Given the description of an element on the screen output the (x, y) to click on. 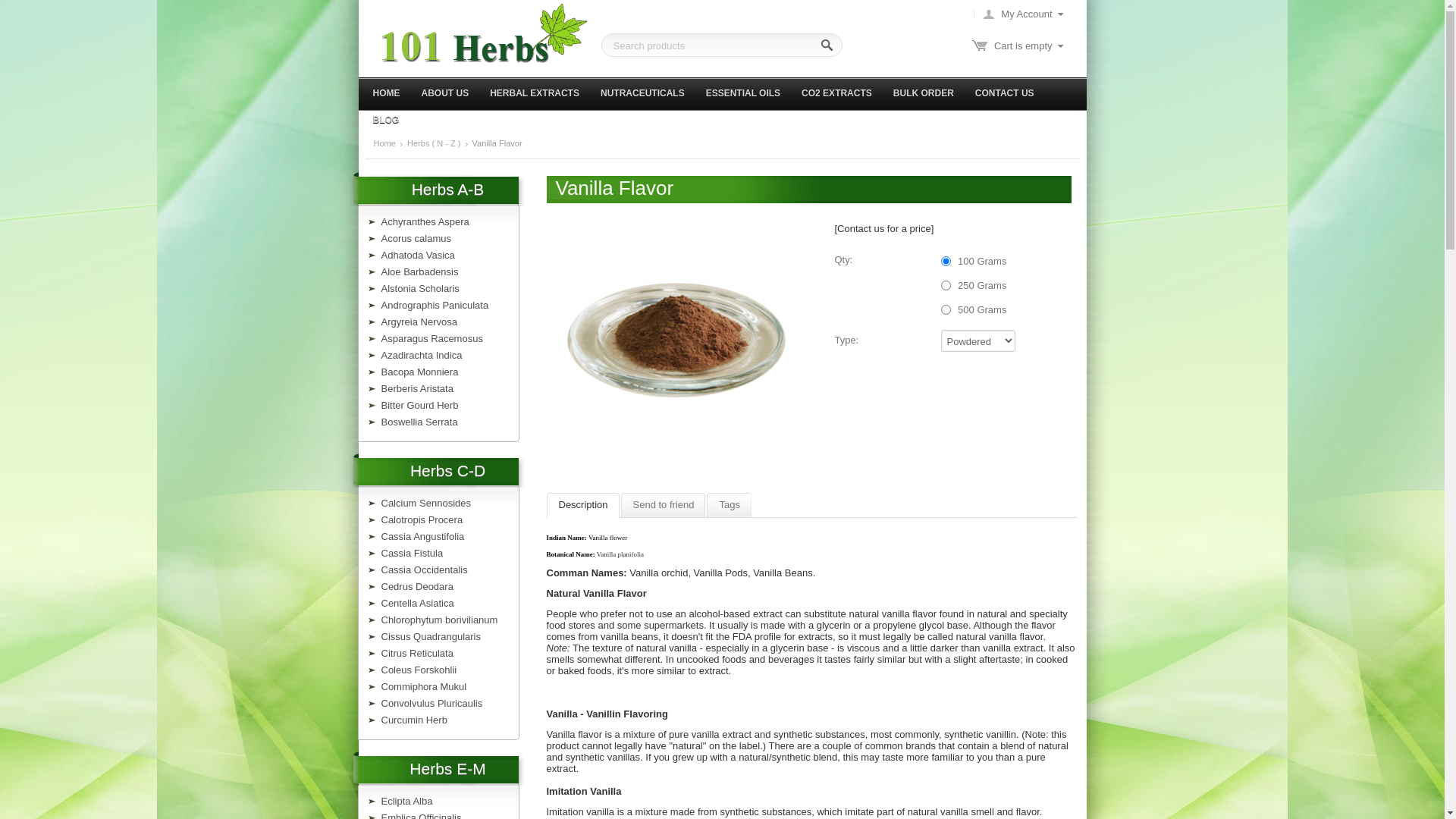
Cissus Quadrangularis Element type: text (430, 636)
Chlorophytum borivilianum Element type: text (438, 619)
Search Element type: hover (827, 45)
Centella Asiatica Element type: text (416, 602)
Herbs ( N - Z ) Element type: text (434, 143)
Send to friend Element type: text (664, 504)
ABOUT US Element type: text (446, 92)
Achyranthes Aspera Element type: text (424, 221)
Commiphora Mukul Element type: text (423, 686)
Cart is empty Element type: text (1015, 45)
Search products Element type: hover (720, 44)
ESSENTIAL OILS Element type: text (744, 92)
Tags Element type: text (729, 504)
HOME Element type: text (387, 92)
Convolvulus Pluricaulis Element type: text (431, 703)
Argyreia Nervosa Element type: text (418, 321)
Aloe Barbadensis Element type: text (419, 271)
BLOG Element type: text (387, 118)
Eclipta Alba Element type: text (406, 800)
CONTACT US Element type: text (1006, 92)
Citrus Reticulata Element type: text (416, 652)
CO2 EXTRACTS Element type: text (838, 92)
255 Element type: text (945, 285)
Description Element type: text (584, 504)
Coleus Forskohlii Element type: text (418, 669)
NUTRACEUTICALS Element type: text (644, 92)
256 Element type: text (945, 309)
BULK ORDER Element type: text (925, 92)
Acorus calamus Element type: text (415, 238)
Azadirachta Indica Element type: text (420, 354)
Natural Vanilla Flavor Element type: hover (676, 337)
My Account Element type: text (1017, 14)
Berberis Aristata Element type: text (416, 388)
Curcumin Herb Element type: text (413, 719)
Calotropis Procera Element type: text (421, 519)
Calcium Sennosides Element type: text (425, 502)
254 Element type: text (945, 261)
Asparagus Racemosus Element type: text (431, 338)
Bacopa Monniera Element type: text (419, 371)
HERBAL EXTRACTS Element type: text (536, 92)
Home Element type: text (384, 143)
Cedrus Deodara Element type: text (416, 586)
Andrographis Paniculata Element type: text (434, 304)
101 Herbs Element type: hover (483, 32)
Boswellia Serrata Element type: text (418, 421)
Alstonia Scholaris Element type: text (419, 288)
Bitter Gourd Herb Element type: text (419, 405)
Adhatoda Vasica Element type: text (417, 254)
Cassia Fistula Element type: text (411, 552)
Cassia Occidentalis Element type: text (423, 569)
Cassia Angustifolia Element type: text (422, 536)
